Given the description of an element on the screen output the (x, y) to click on. 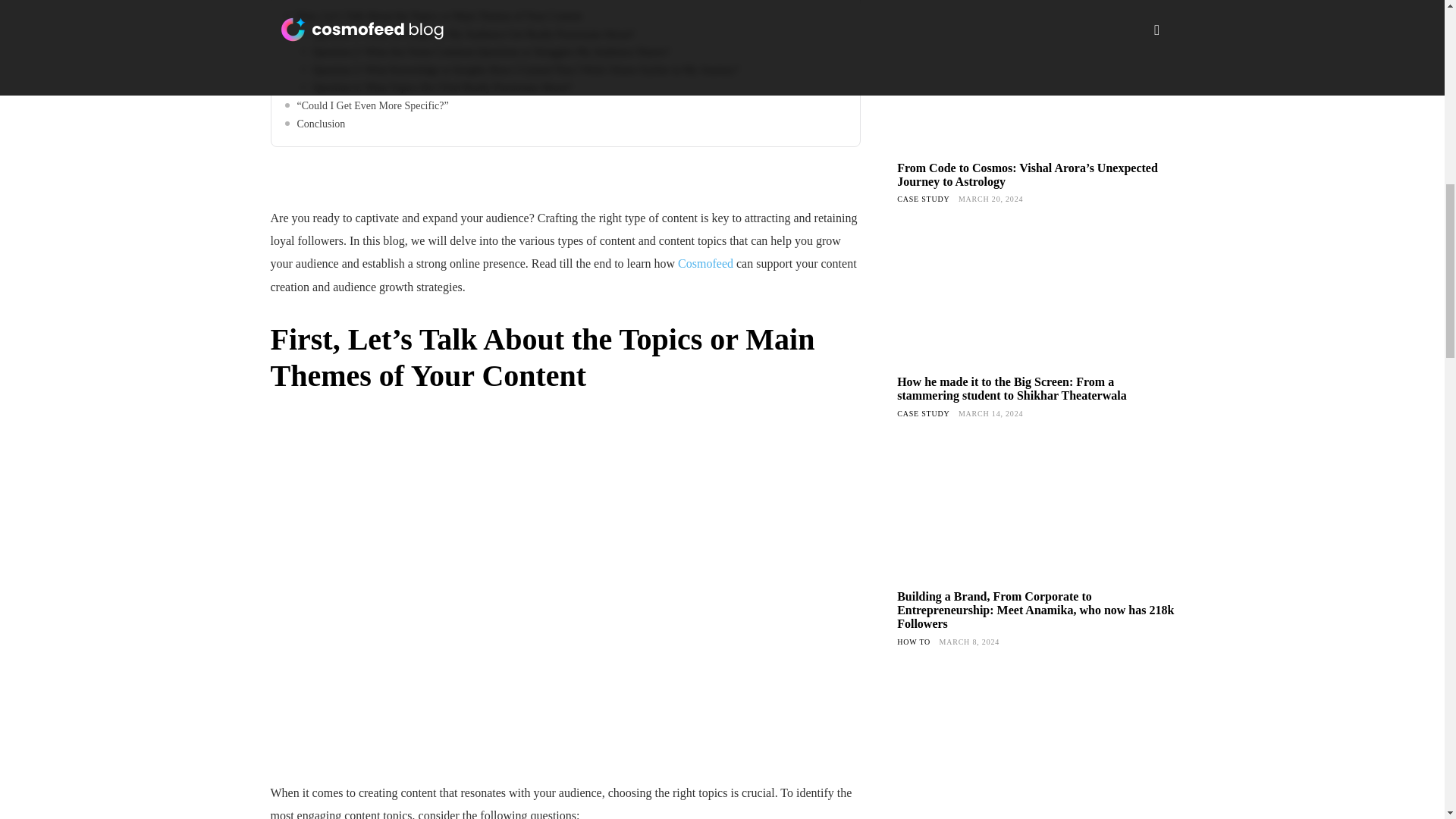
Conclusion (566, 124)
Cosmofeed (705, 263)
Question 4: What Topics Do I Feel Really Passionate About? (572, 87)
